Given the description of an element on the screen output the (x, y) to click on. 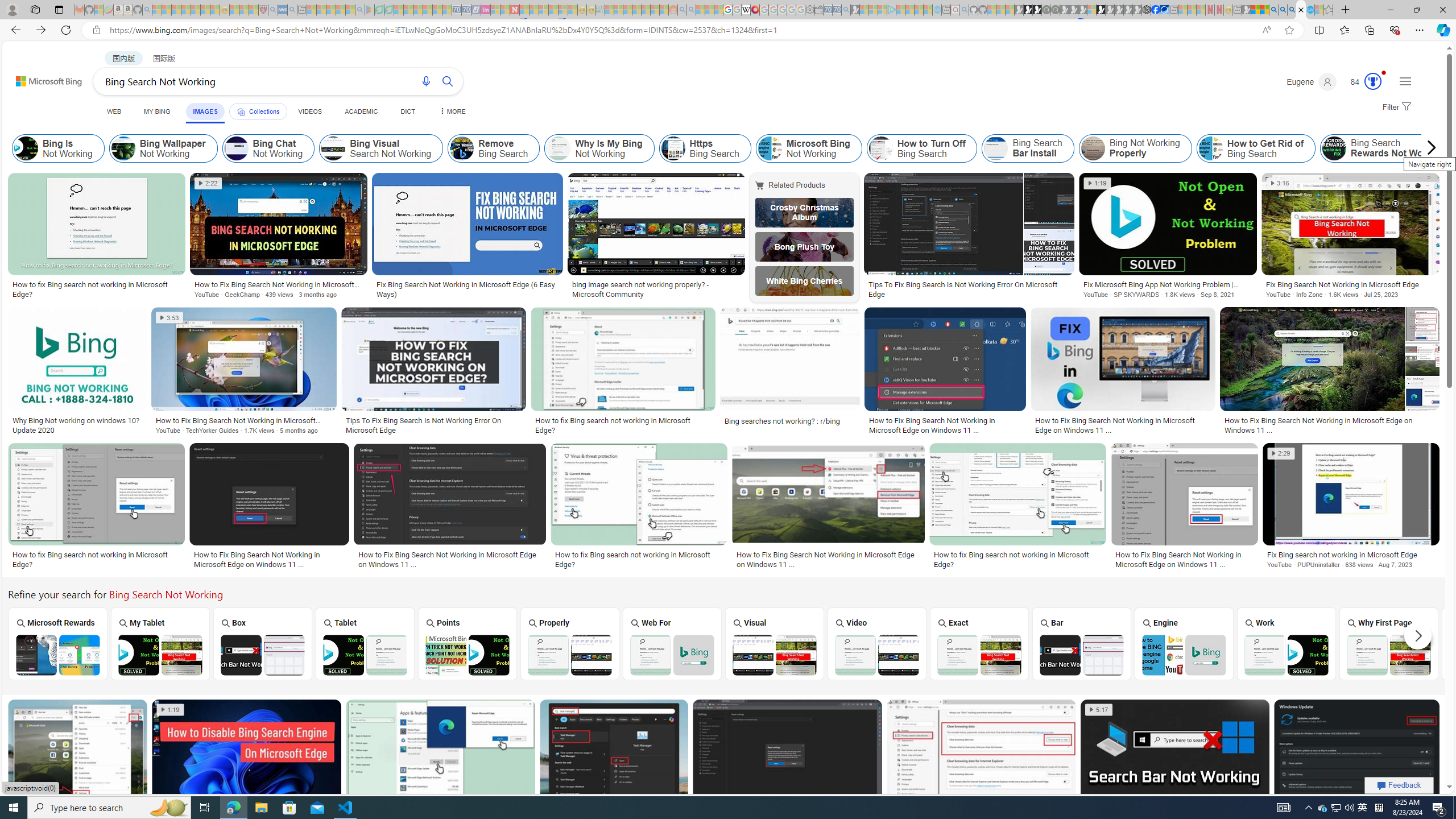
Bing Exact Search Not Working (978, 655)
How to Turn Off Bing Search (879, 148)
Search button (447, 80)
Recipes - MSN - Sleeping (234, 9)
AutomationID: serp_medal_svg (1372, 81)
Jobs - lastminute.com Investor Portal - Sleeping (485, 9)
Bing Search Bar Install (996, 148)
Bing Search Points Not Working Points (467, 643)
Back to Bing search (41, 78)
Nordace | Facebook (1154, 9)
